Given the description of an element on the screen output the (x, y) to click on. 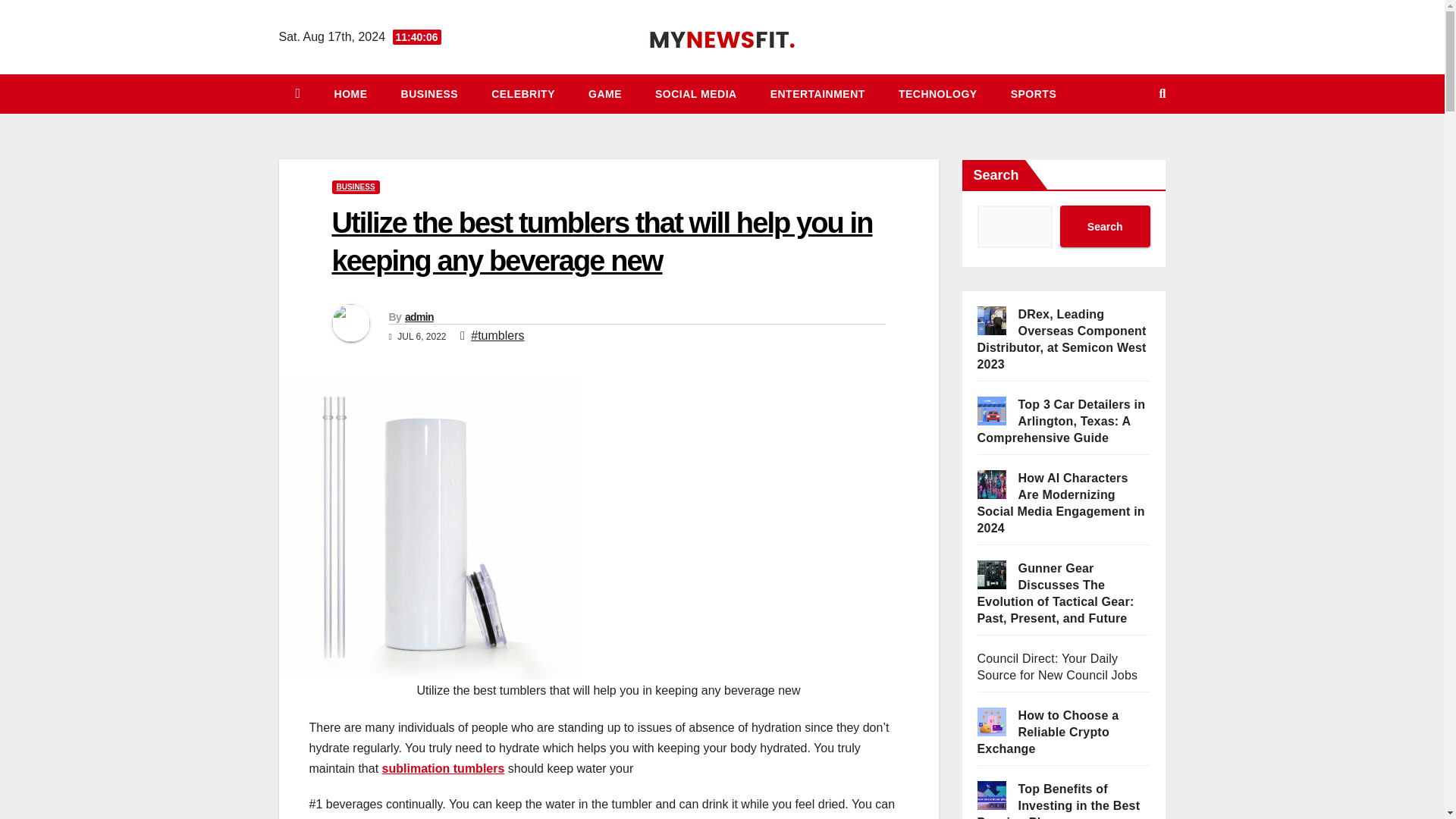
SOCIAL MEDIA (696, 93)
Home (350, 93)
Technology (938, 93)
TECHNOLOGY (938, 93)
admin (418, 316)
Social Media (696, 93)
HOME (350, 93)
BUSINESS (430, 93)
Entertainment (818, 93)
